Given the description of an element on the screen output the (x, y) to click on. 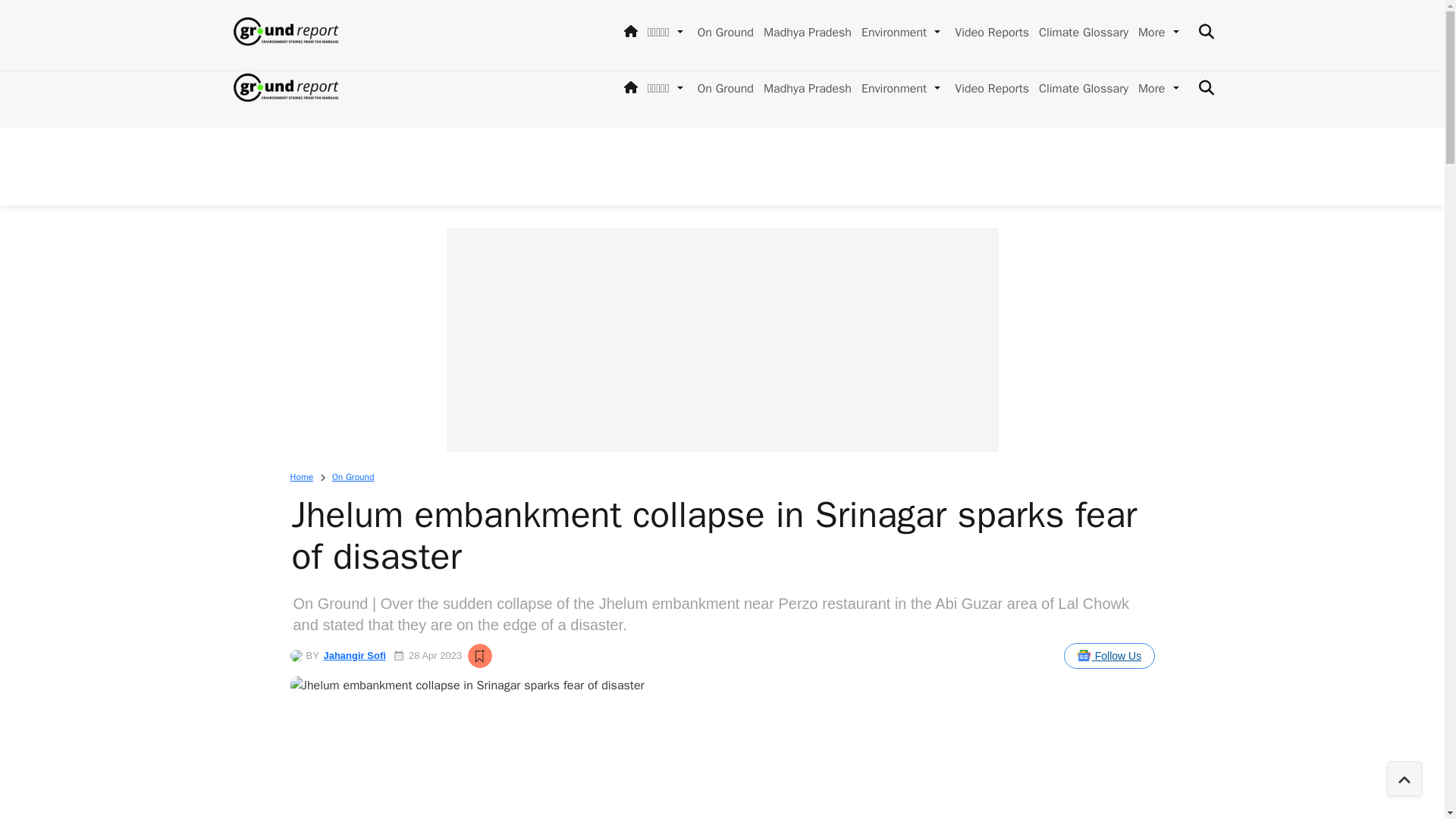
On Ground (722, 88)
Video Reports (989, 88)
Climate Glossary (1080, 88)
Madhya Pradesh (804, 88)
Environment (891, 88)
